Given the description of an element on the screen output the (x, y) to click on. 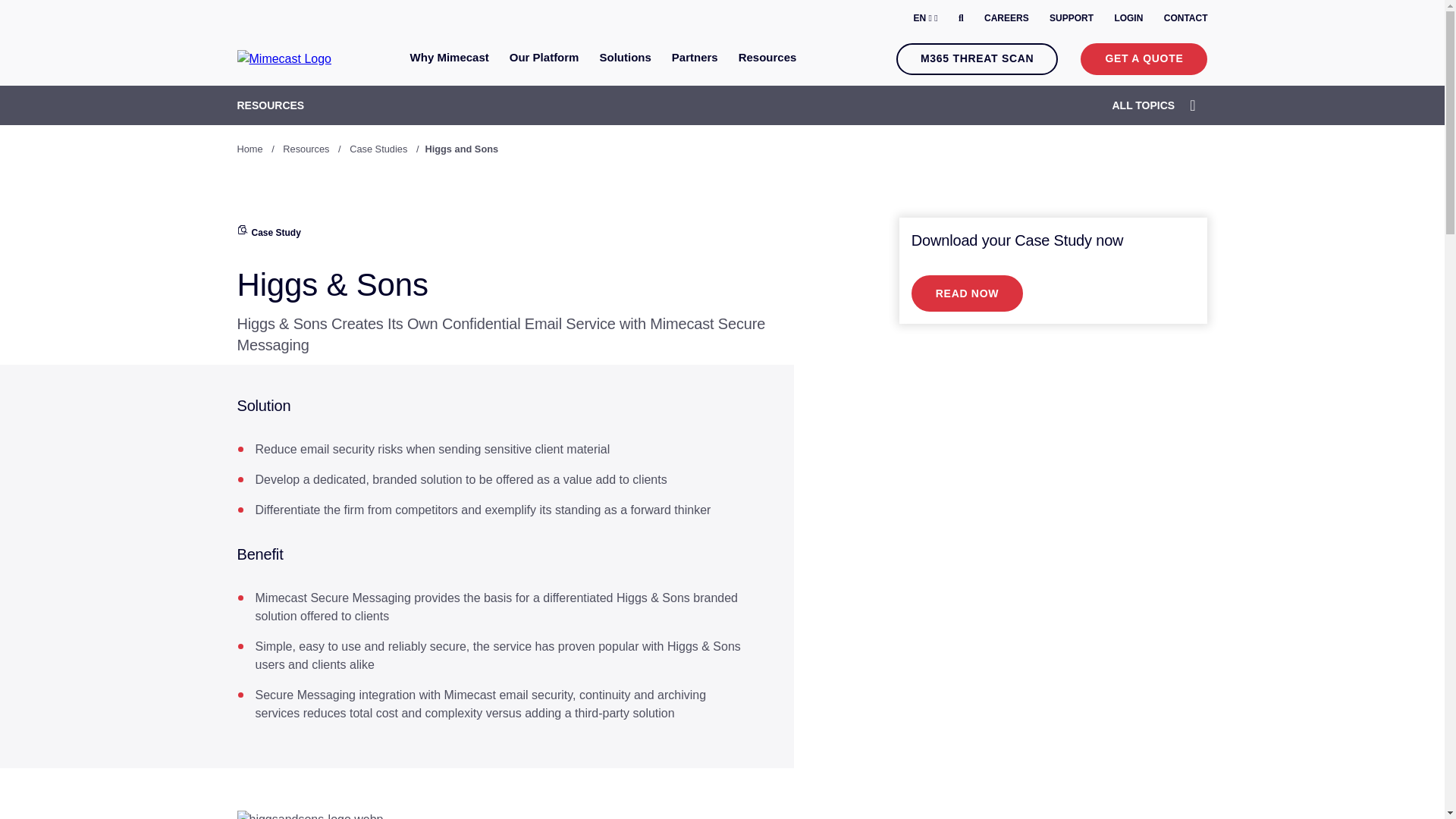
CONTACT (1185, 18)
LOGIN (1127, 18)
SUPPORT (1071, 18)
CAREERS (1006, 18)
